Given the description of an element on the screen output the (x, y) to click on. 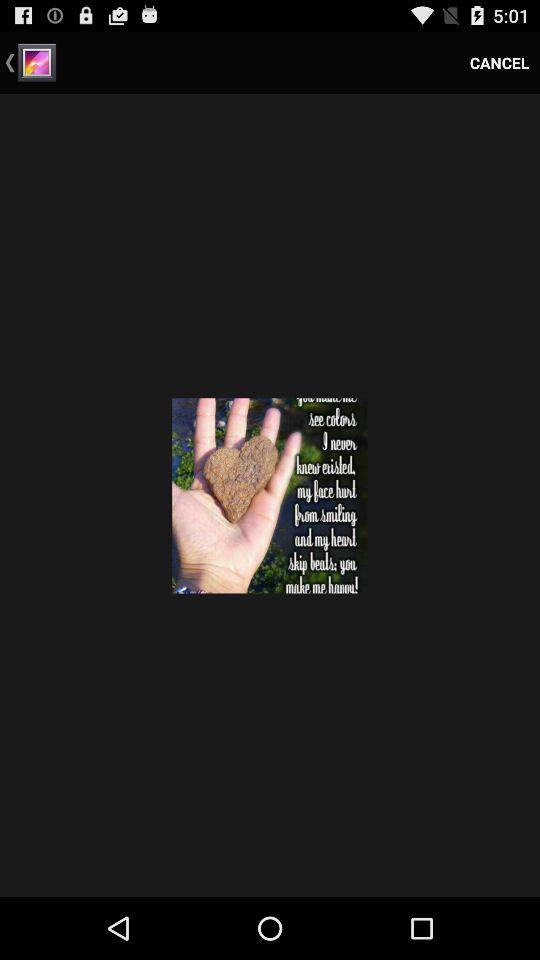
swipe to cancel item (499, 62)
